Given the description of an element on the screen output the (x, y) to click on. 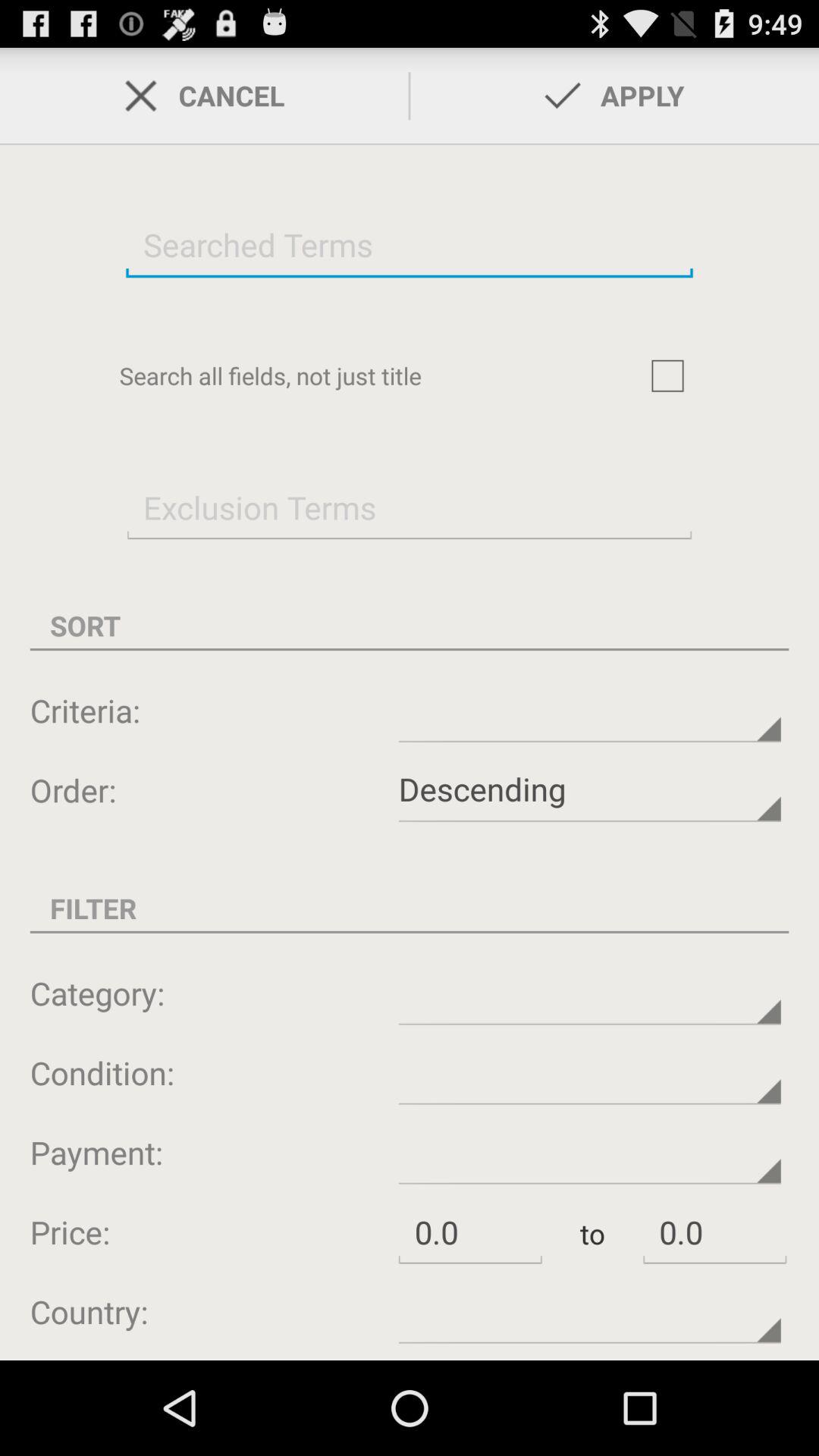
search option (409, 244)
